Given the description of an element on the screen output the (x, y) to click on. 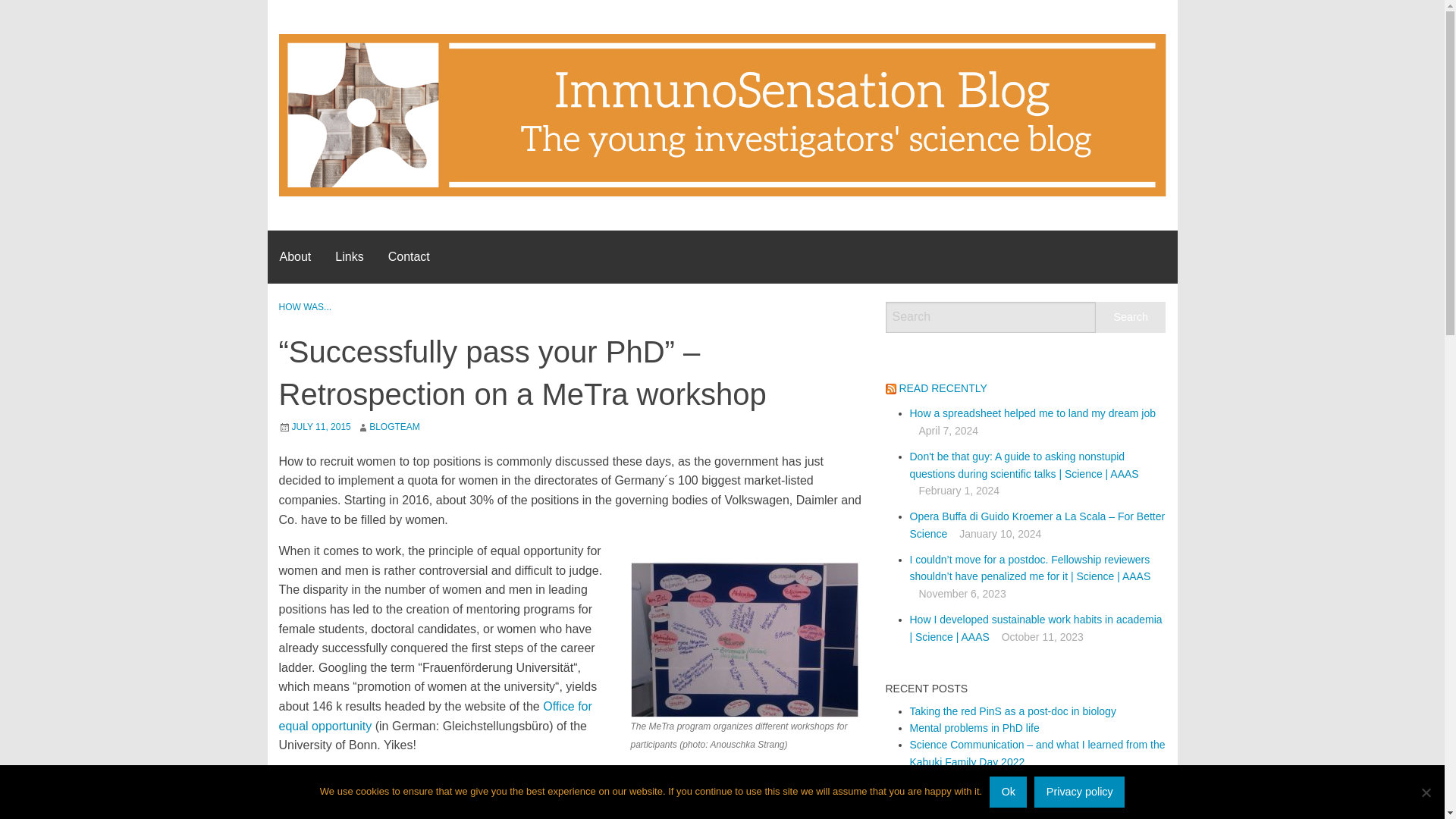
READ RECENTLY (942, 387)
JULY 11, 2015 (320, 426)
Links (349, 256)
Contact (408, 256)
About (294, 256)
Search (1131, 317)
No (1425, 792)
Search (1131, 317)
BLOGTEAM (394, 426)
Taking the red PinS as a post-doc in biology (1013, 711)
Office for equal opportunity (435, 716)
Mental problems in PhD life (974, 727)
The Science of Music (960, 796)
HOW WAS... (305, 307)
